Given the description of an element on the screen output the (x, y) to click on. 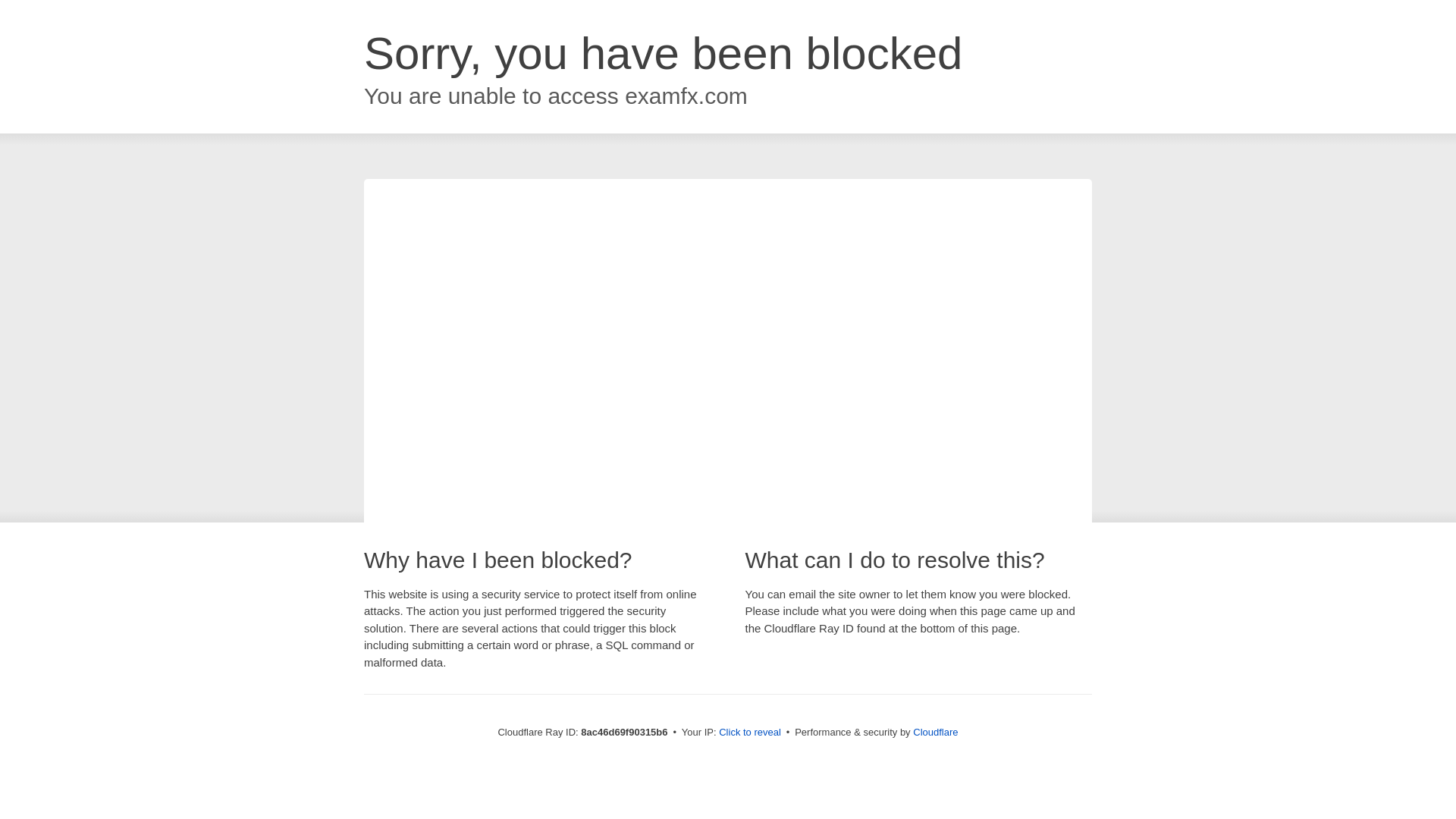
Click to reveal (749, 732)
Cloudflare (935, 731)
